Given the description of an element on the screen output the (x, y) to click on. 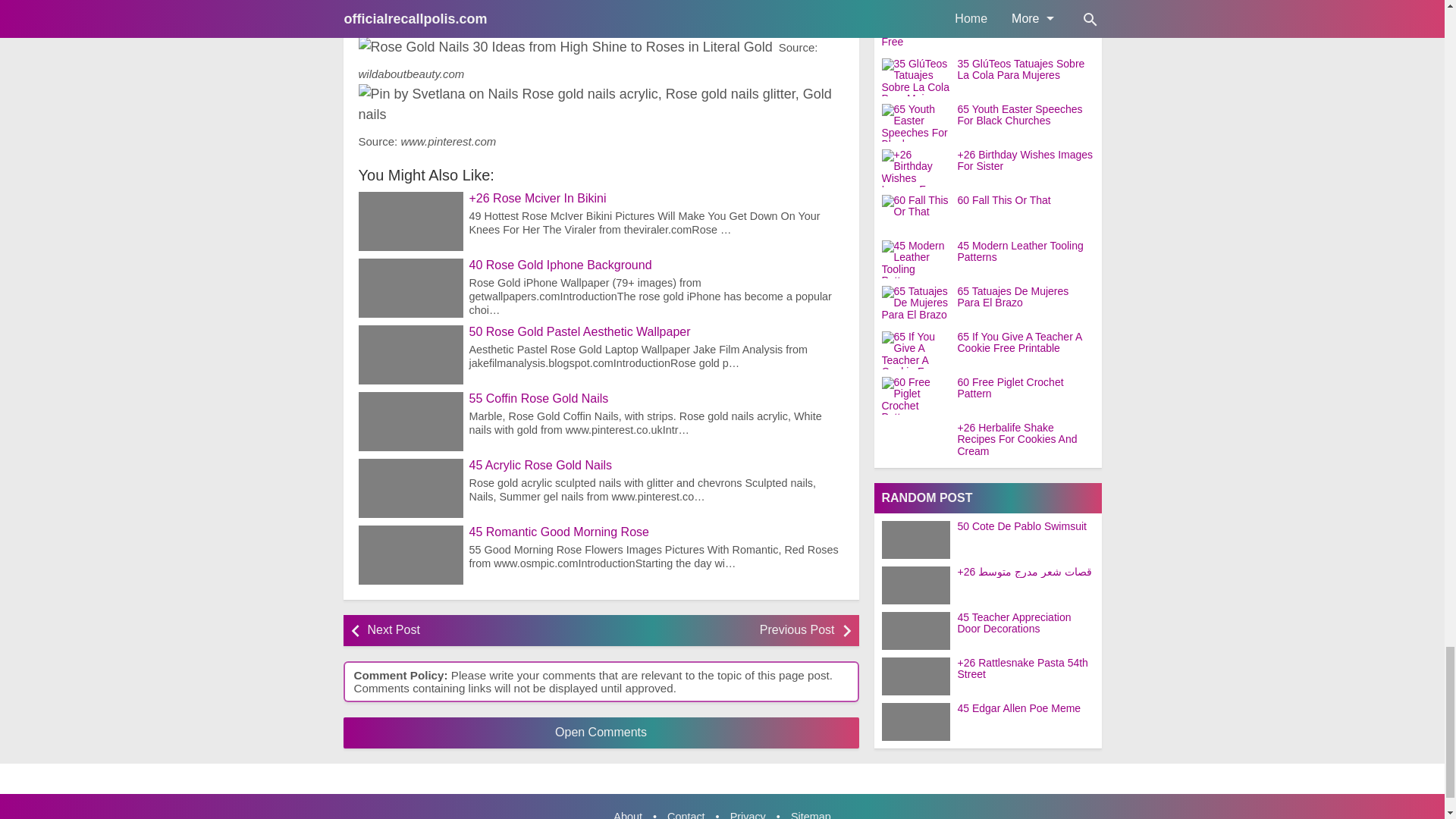
45 Acrylic Rose Gold Nails (655, 465)
55 Coffin Rose Gold Nails (655, 398)
50 Rose Gold Pastel Aesthetic Wallpaper (655, 332)
40 Rose Gold Iphone Background (655, 264)
Previous Post (721, 630)
Next Post (479, 630)
45 Romantic Good Morning Rose (655, 531)
